Given the description of an element on the screen output the (x, y) to click on. 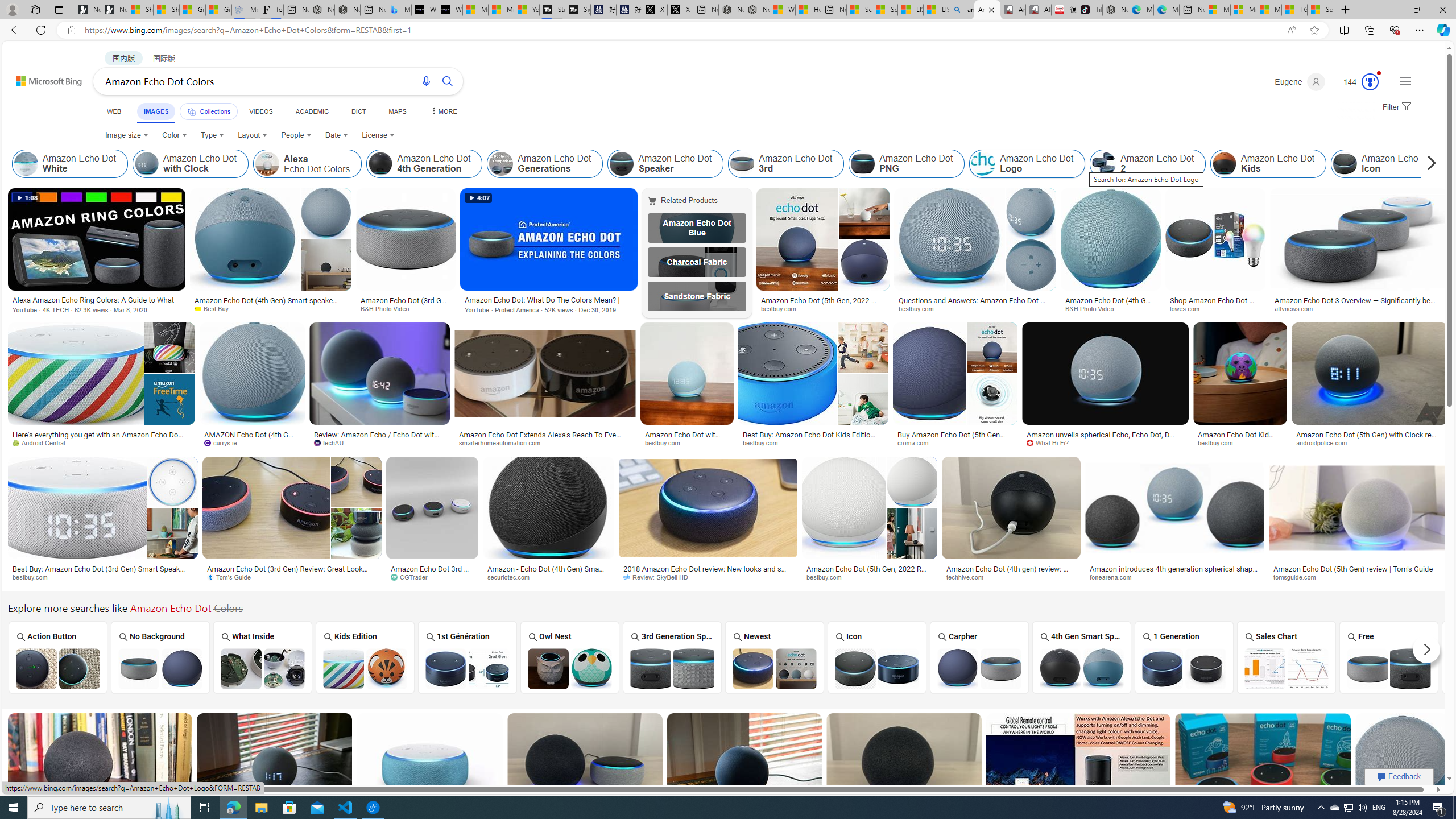
Free Amazon Echo Dot Free (1388, 656)
Amazon Echo Dot Photo No Background (160, 668)
Sandstone Fabric (696, 296)
MORE (443, 111)
X (679, 9)
Amazon Echo Dot White (70, 163)
Microsoft Bing Travel - Shangri-La Hotel Bangkok (398, 9)
Amazon Echo Dot Sales Chart (1285, 668)
IMAGES (156, 112)
